Given the description of an element on the screen output the (x, y) to click on. 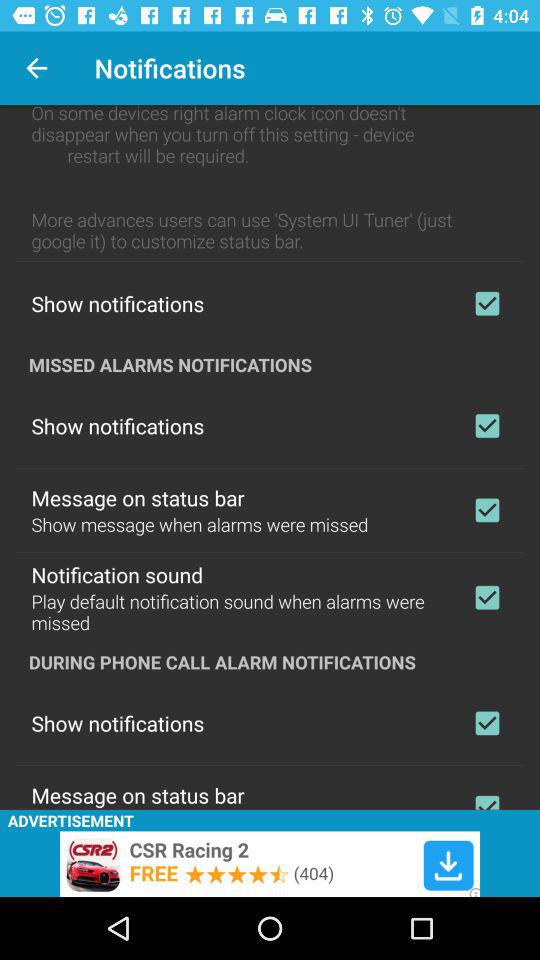
uncheck the mark on option (487, 723)
